Given the description of an element on the screen output the (x, y) to click on. 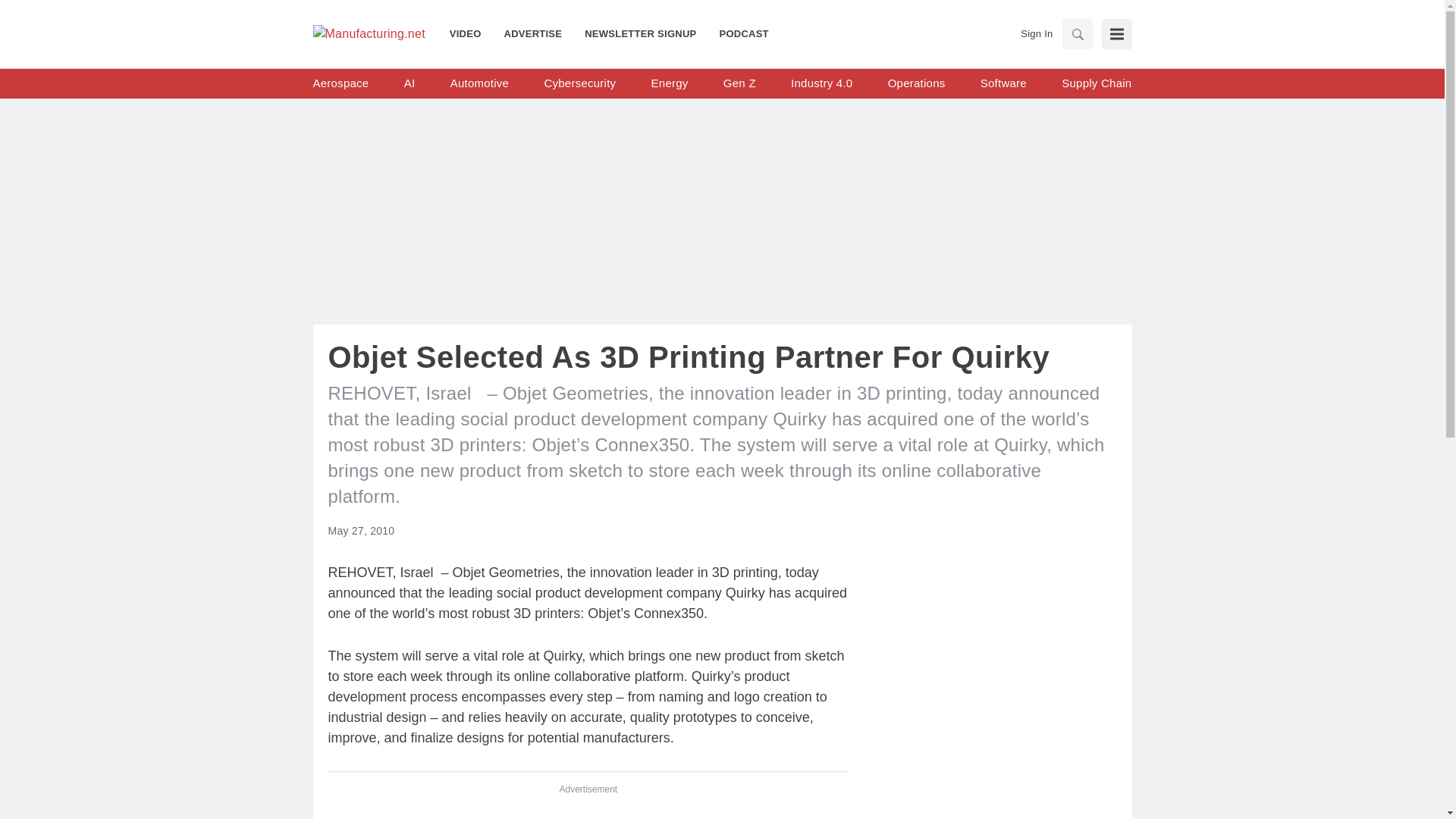
PODCAST (737, 33)
NEWSLETTER SIGNUP (640, 33)
Supply Chain (1096, 83)
Aerospace (340, 83)
Automotive (479, 83)
ADVERTISE (533, 33)
Operations (916, 83)
Software (1002, 83)
Gen Z (739, 83)
Energy (669, 83)
